Given the description of an element on the screen output the (x, y) to click on. 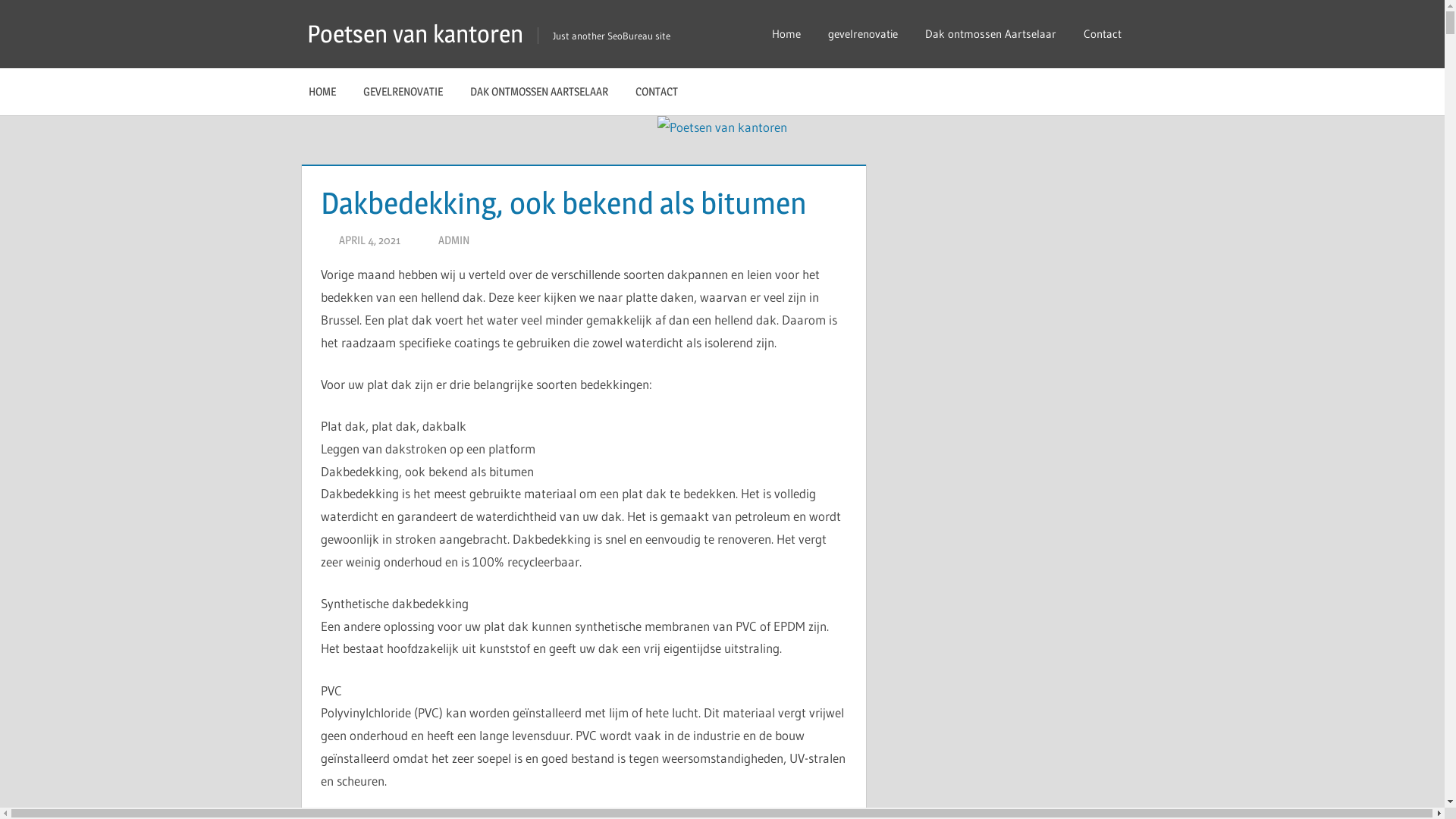
CONTACT Element type: text (661, 91)
Poetsen van kantoren Element type: text (415, 33)
Home Element type: text (786, 33)
ADMIN Element type: text (453, 239)
Dak ontmossen Aartselaar Element type: text (990, 33)
HOME Element type: text (321, 91)
GEVELRENOVATIE Element type: text (402, 91)
Contact Element type: text (1106, 33)
DAK ONTMOSSEN AARTSELAAR Element type: text (538, 91)
gevelrenovatie Element type: text (862, 33)
APRIL 4, 2021 Element type: text (369, 239)
